Given the description of an element on the screen output the (x, y) to click on. 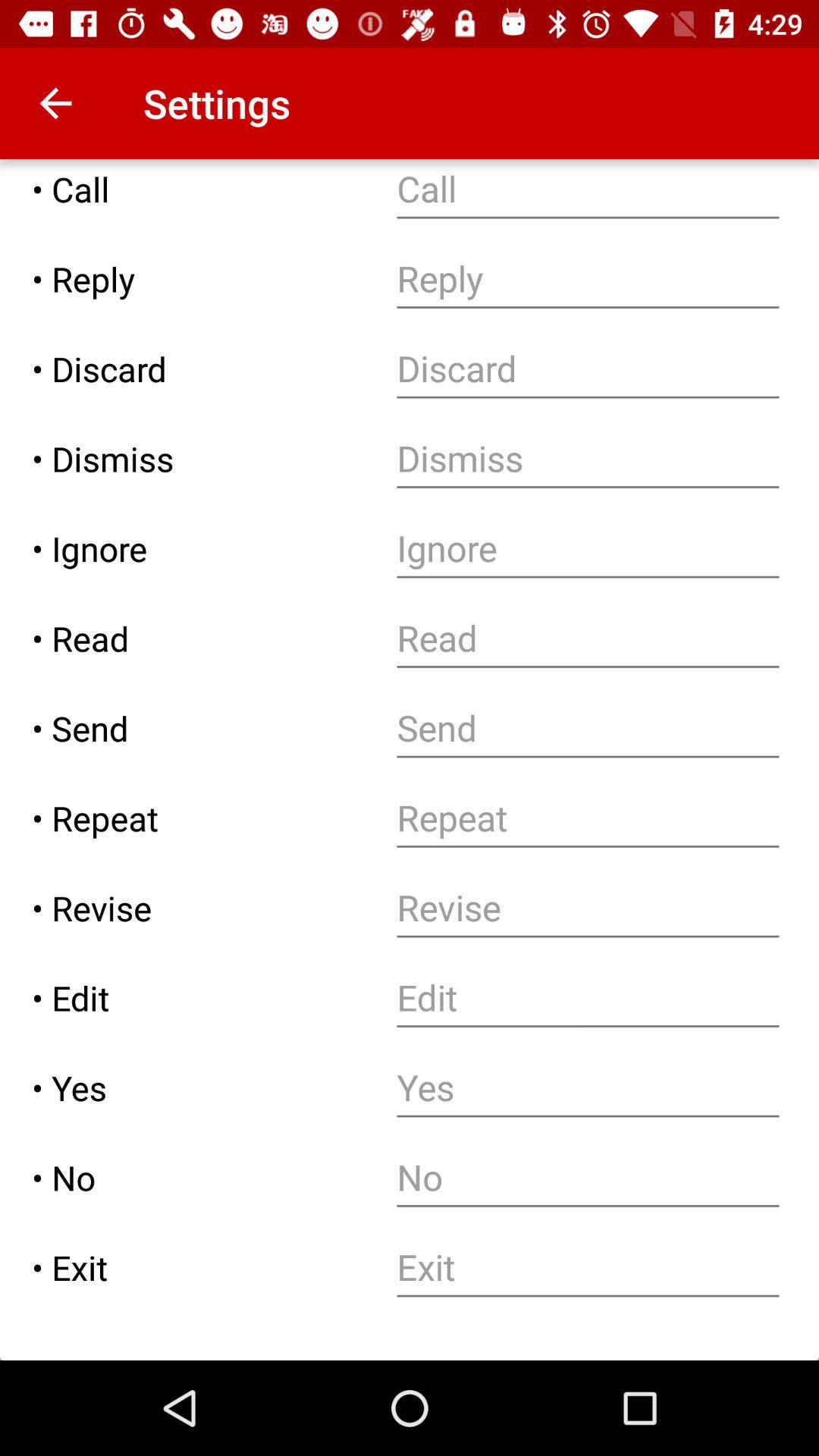
specify text to be deleted (588, 369)
